Given the description of an element on the screen output the (x, y) to click on. 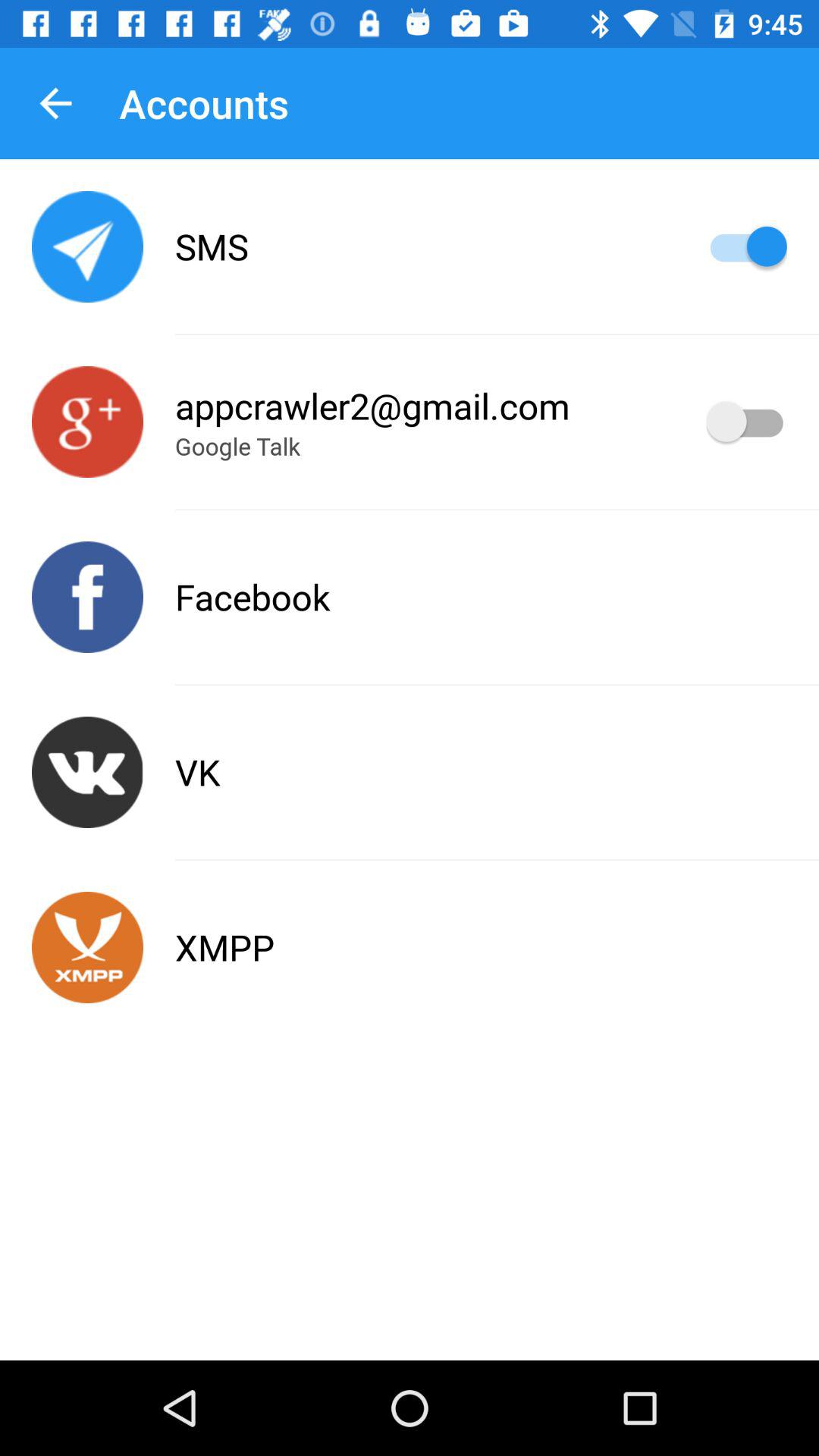
use vk account (87, 772)
